Given the description of an element on the screen output the (x, y) to click on. 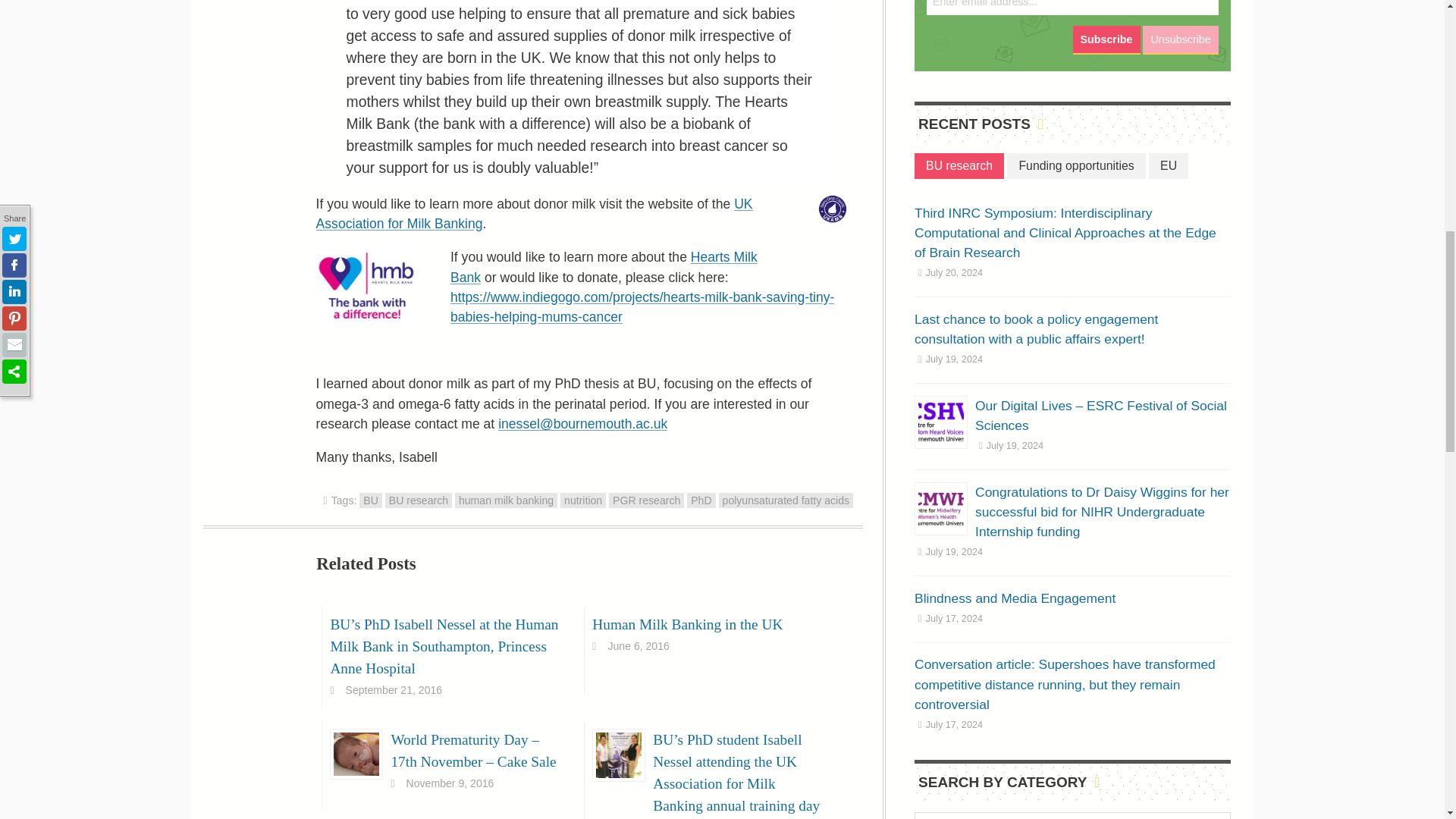
Unsubscribe (1179, 39)
Subscribe (1106, 39)
Enter email address... (1072, 7)
